Given the description of an element on the screen output the (x, y) to click on. 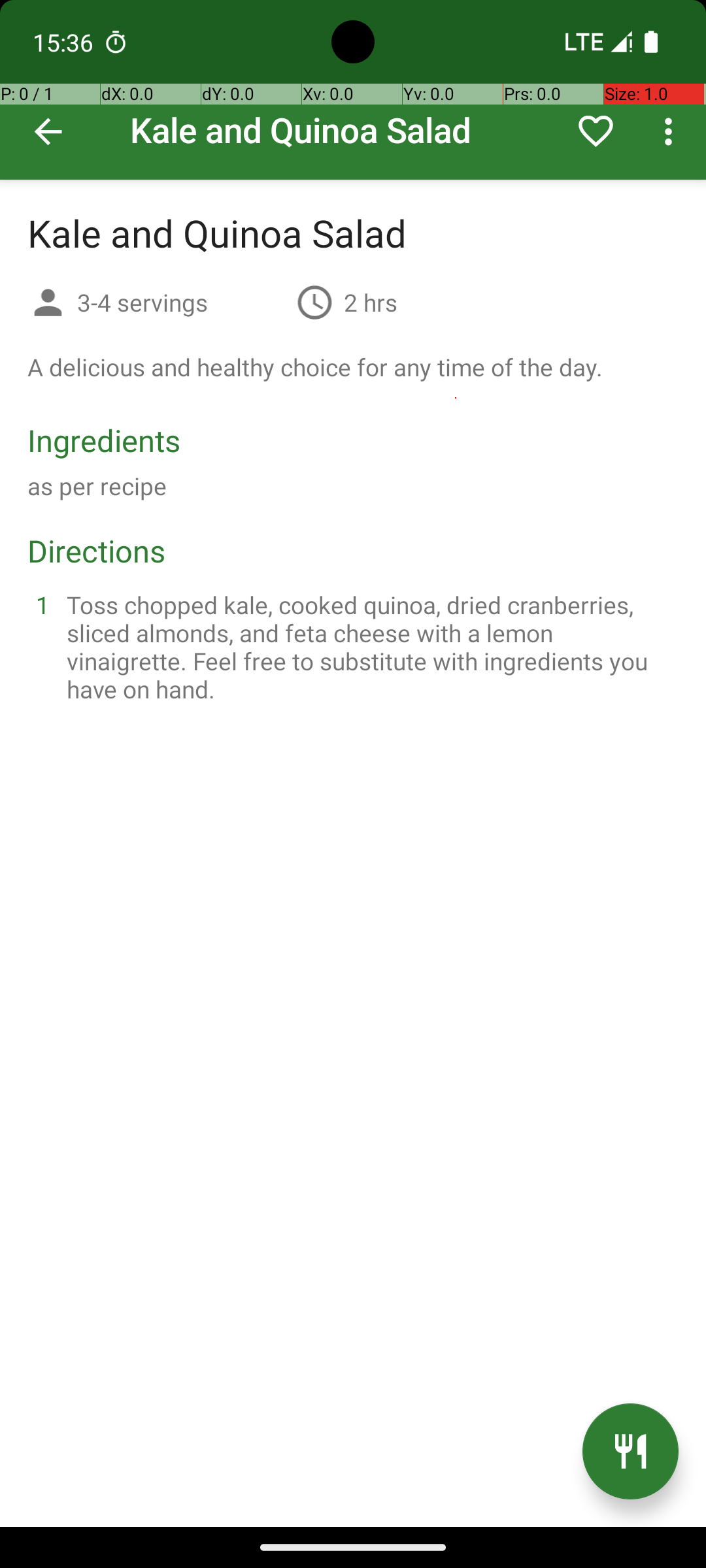
as per recipe Element type: android.widget.TextView (96, 485)
Toss chopped kale, cooked quinoa, dried cranberries, sliced almonds, and feta cheese with a lemon vinaigrette. Feel free to substitute with ingredients you have on hand. Element type: android.widget.TextView (368, 646)
